Given the description of an element on the screen output the (x, y) to click on. 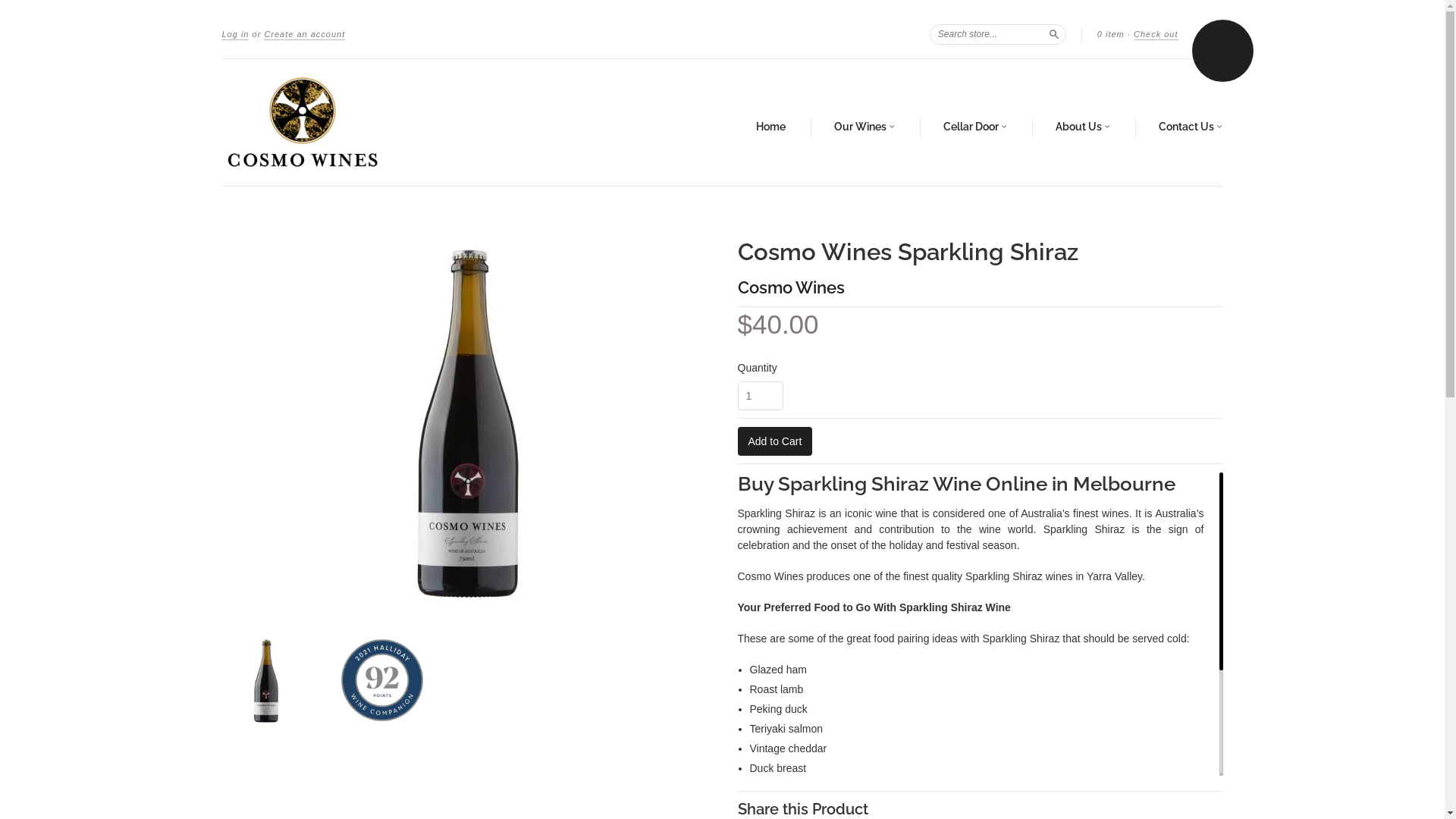
Contact Us Element type: text (1190, 127)
Our Wines Element type: text (864, 127)
0 item Element type: text (1110, 34)
Search Element type: text (1053, 33)
Check out Element type: text (1155, 34)
Add to Cart Element type: text (774, 440)
Home Element type: text (770, 126)
About Us Element type: text (1082, 127)
Log in Element type: text (234, 34)
Cosmo Wines Element type: text (790, 287)
Cellar Door Element type: text (975, 127)
Create an account Element type: text (304, 34)
